Given the description of an element on the screen output the (x, y) to click on. 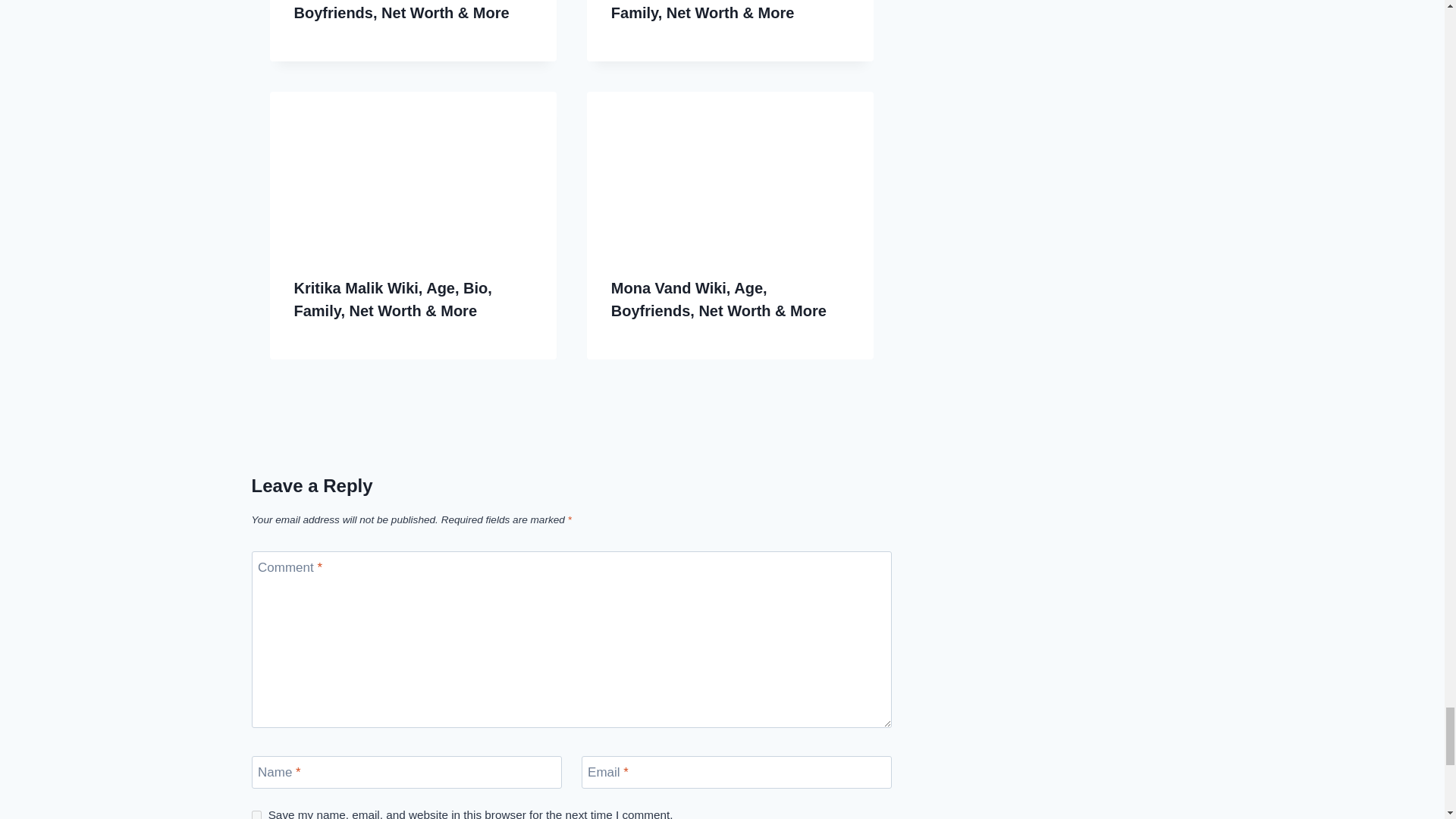
yes (256, 814)
